Given the description of an element on the screen output the (x, y) to click on. 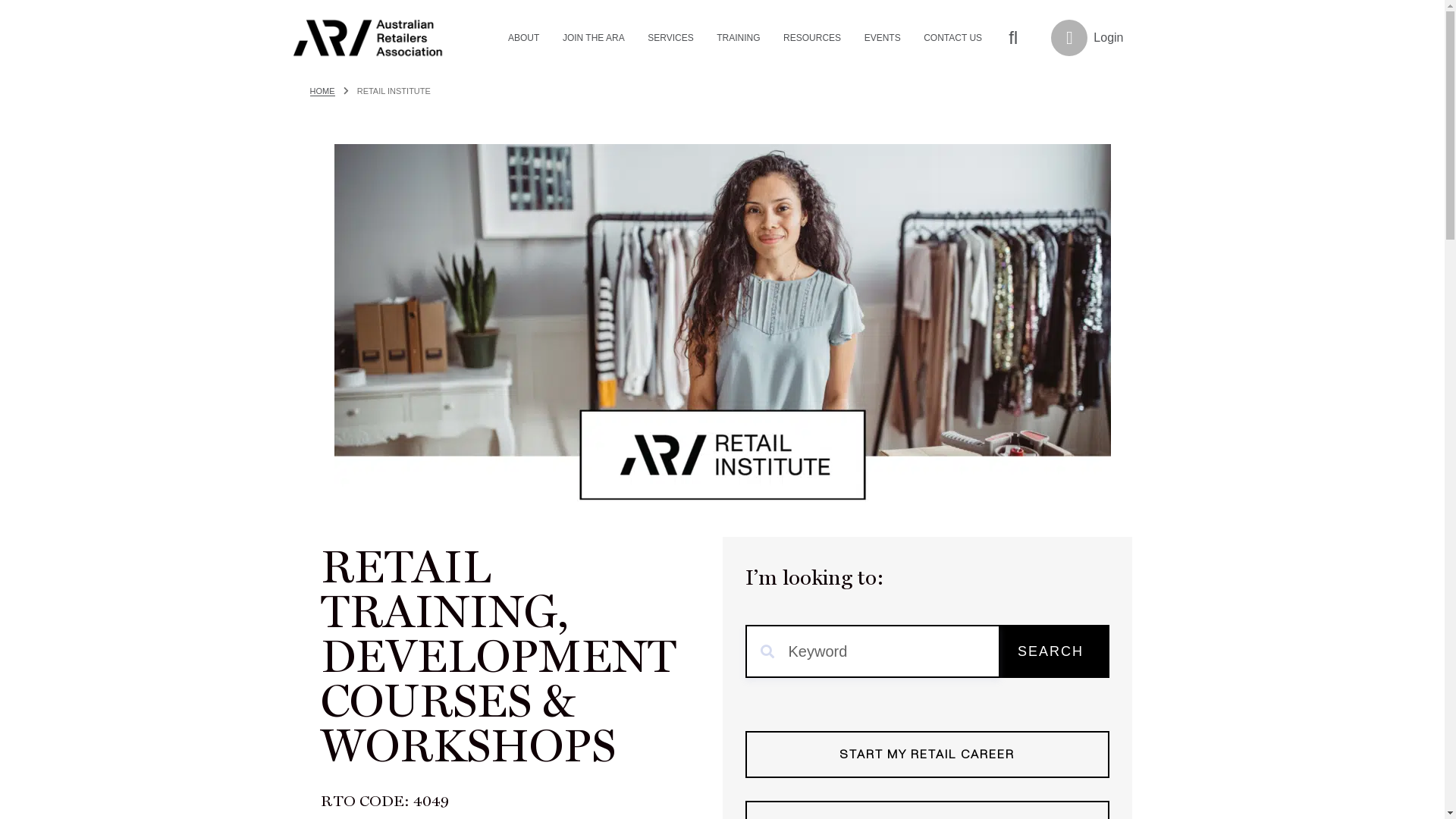
START MY RETAIL CAREER Element type: text (926, 754)
CONTACT US Element type: text (953, 37)
Search Element type: hover (1012, 37)
TRAINING Element type: text (739, 37)
EVENTS Element type: text (883, 37)
ABOUT Element type: text (525, 37)
SEARCH Element type: text (1049, 650)
HOME Element type: text (322, 91)
SERVICES Element type: text (671, 37)
RESOURCES Element type: text (813, 37)
Login Element type: text (1086, 37)
JOIN THE ARA Element type: text (594, 37)
